Given the description of an element on the screen output the (x, y) to click on. 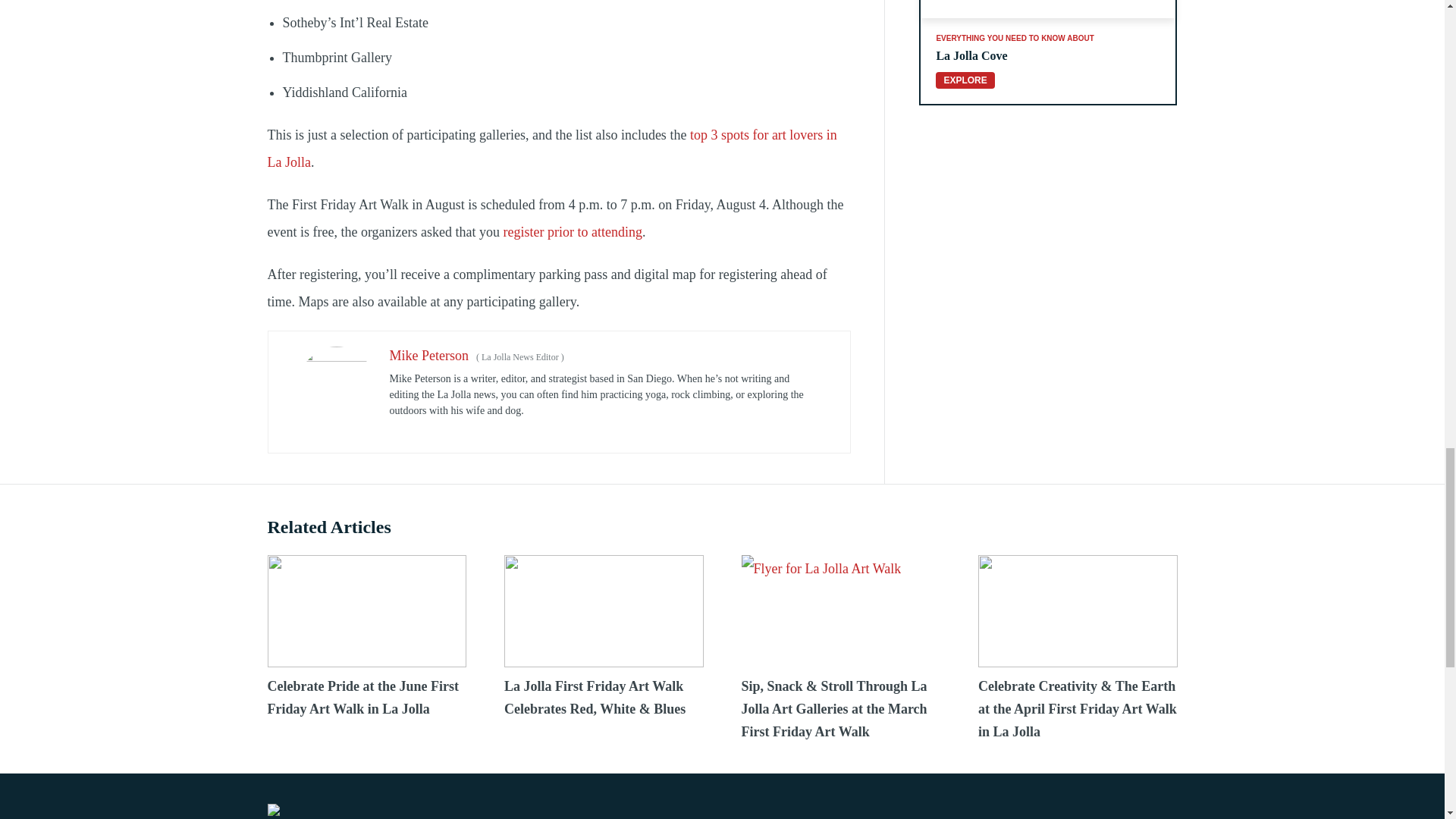
Mike Peterson (429, 355)
top 3 spots for art lovers in La Jolla (550, 148)
register prior to attending (1047, 52)
